Given the description of an element on the screen output the (x, y) to click on. 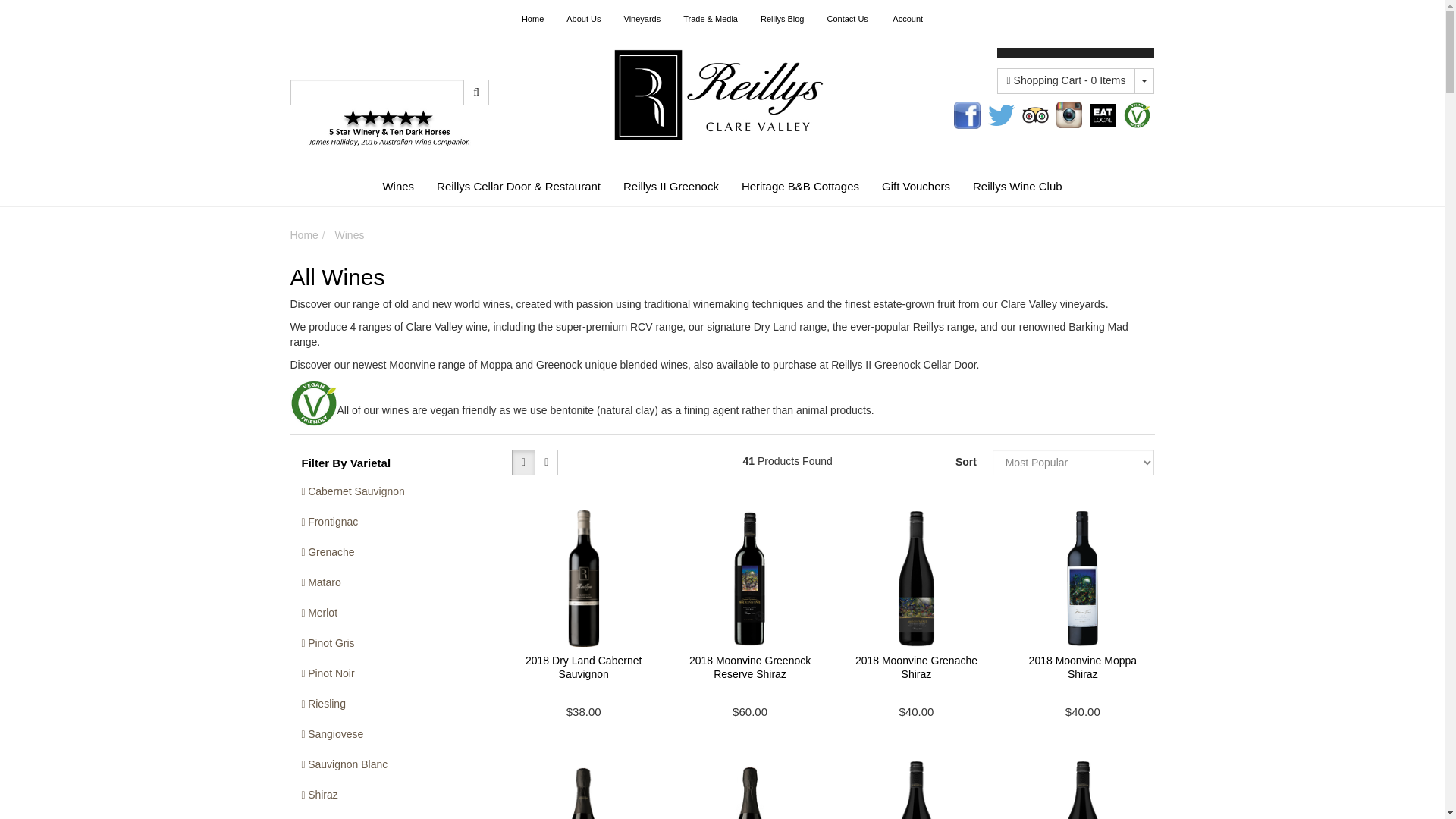
Reillys Wines (721, 93)
2018 Moonvine Grenache Shiraz (916, 667)
2018 Moonvine Greenock Reserve Shiraz (749, 667)
 Account (906, 18)
Search (476, 92)
Wines (398, 186)
Shopping Cart - 0 Items (1066, 80)
Reillys II Greenock (670, 186)
About Us (582, 18)
Home (532, 18)
